Given the description of an element on the screen output the (x, y) to click on. 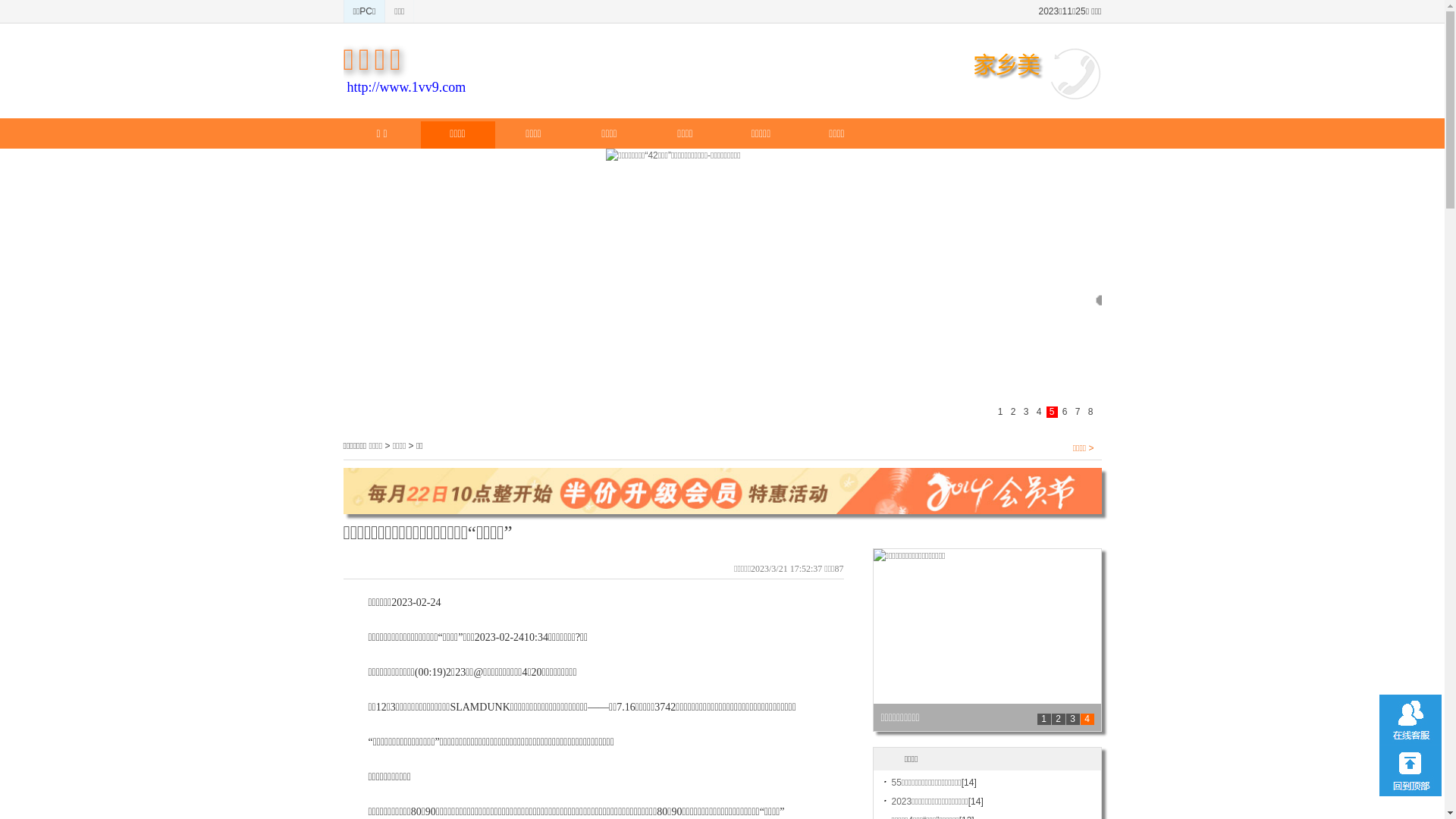
4 Element type: text (1086, 718)
1 Element type: text (1044, 718)
2 Element type: text (1057, 718)
http://www.1vv9.com Element type: text (406, 86)
3 Element type: text (1072, 718)
